Given the description of an element on the screen output the (x, y) to click on. 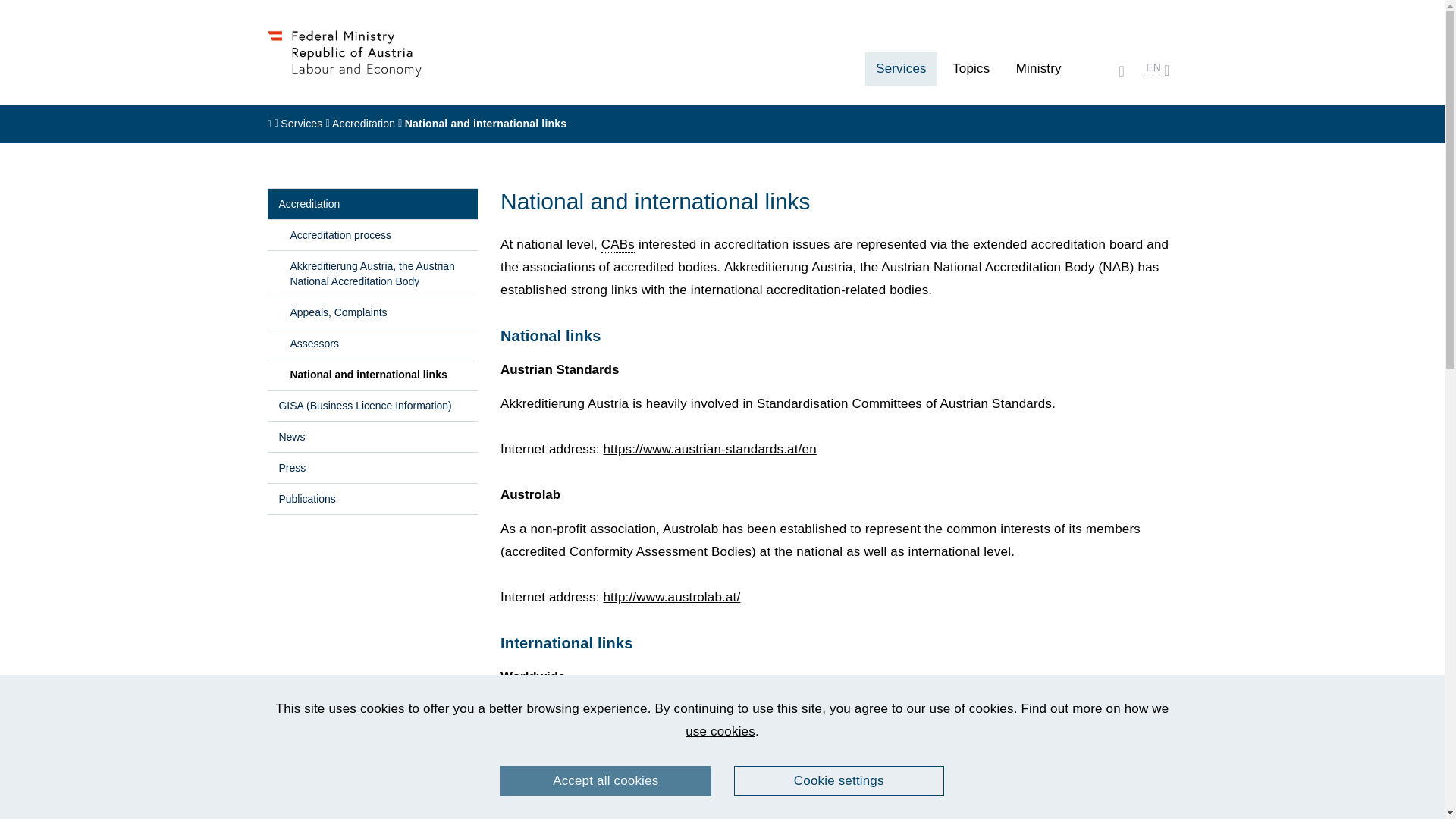
Conformity Assessment Bodies (617, 244)
Cookie settings (838, 780)
Topics (971, 68)
International Laboratory Accreditation Cooperation  (715, 801)
Accept all cookies (605, 780)
Opens in a new Tab (670, 596)
International Laboratory Accreditation Cooperation  (999, 818)
Opens in a new Tab (708, 449)
how we use cookies (927, 719)
English (1152, 66)
